Given the description of an element on the screen output the (x, y) to click on. 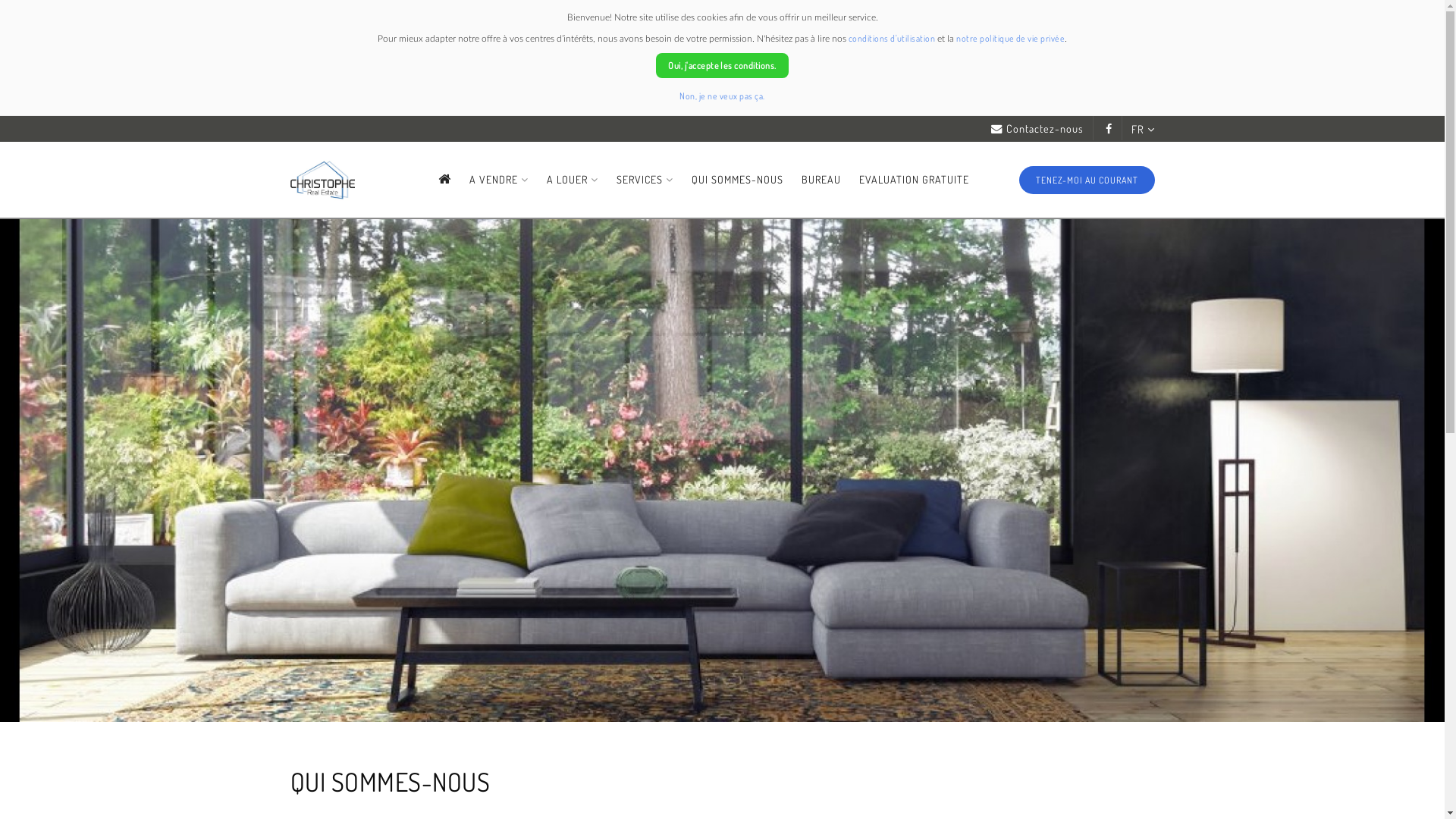
EVALUATION GRATUITE Element type: text (914, 179)
TENEZ-MOI AU COURANT Element type: text (1086, 180)
QUI SOMMES-NOUS Element type: text (737, 179)
A VENDRE Element type: text (498, 179)
Oui, j'accepte les conditions. Element type: text (721, 65)
FR Element type: text (1138, 128)
SERVICES Element type: text (644, 179)
conditions d'utilisation Element type: text (891, 37)
A LOUER Element type: text (572, 179)
Contactez-nous Element type: text (1036, 128)
BUREAU Element type: text (820, 179)
